Given the description of an element on the screen output the (x, y) to click on. 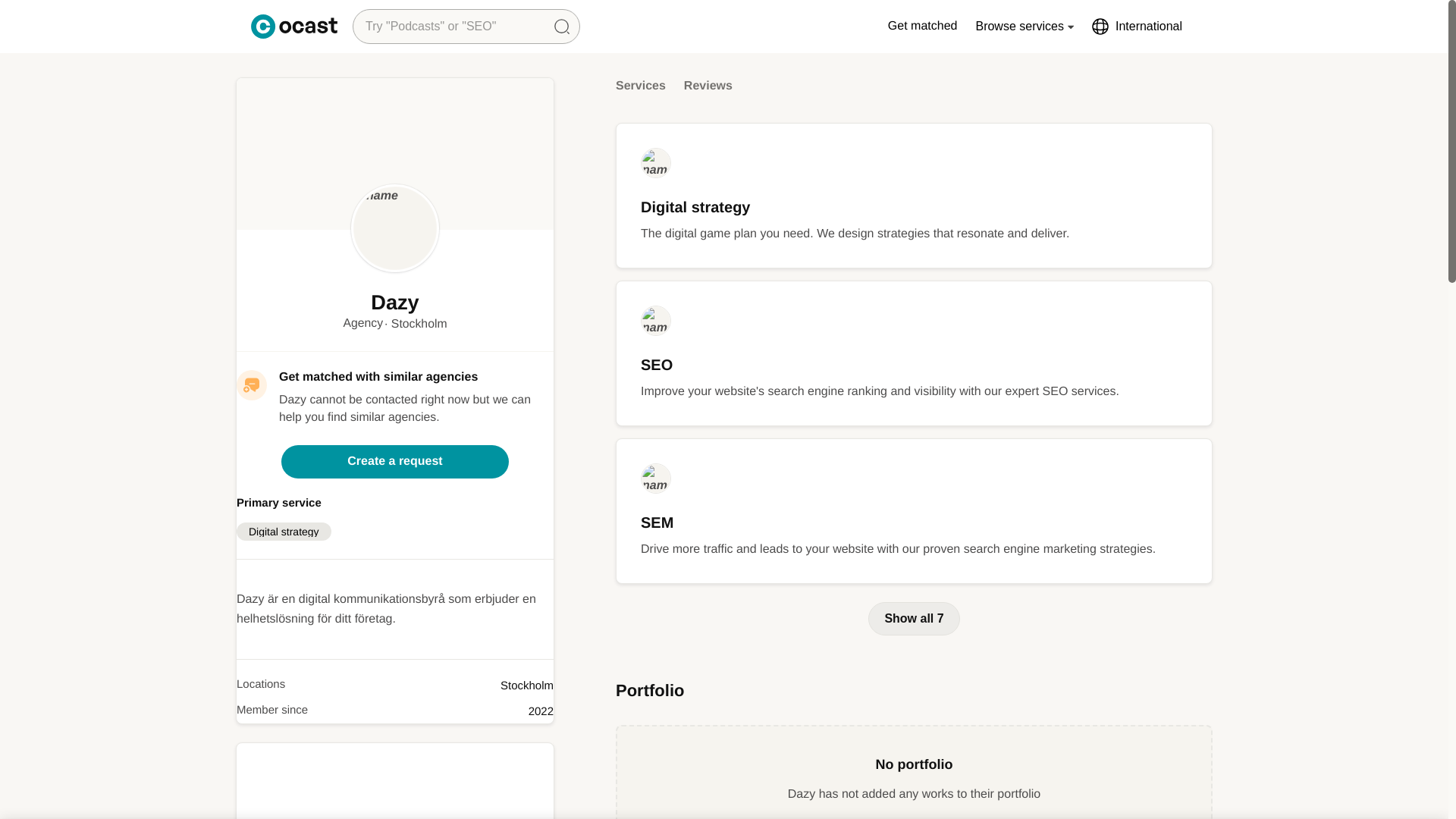
Digital strategy (283, 531)
Agency (362, 323)
Reviews (708, 90)
Browse services (1025, 26)
Get matched (923, 26)
Services (640, 90)
Show all 7 (913, 618)
Create a request (394, 461)
International (1136, 26)
